Given the description of an element on the screen output the (x, y) to click on. 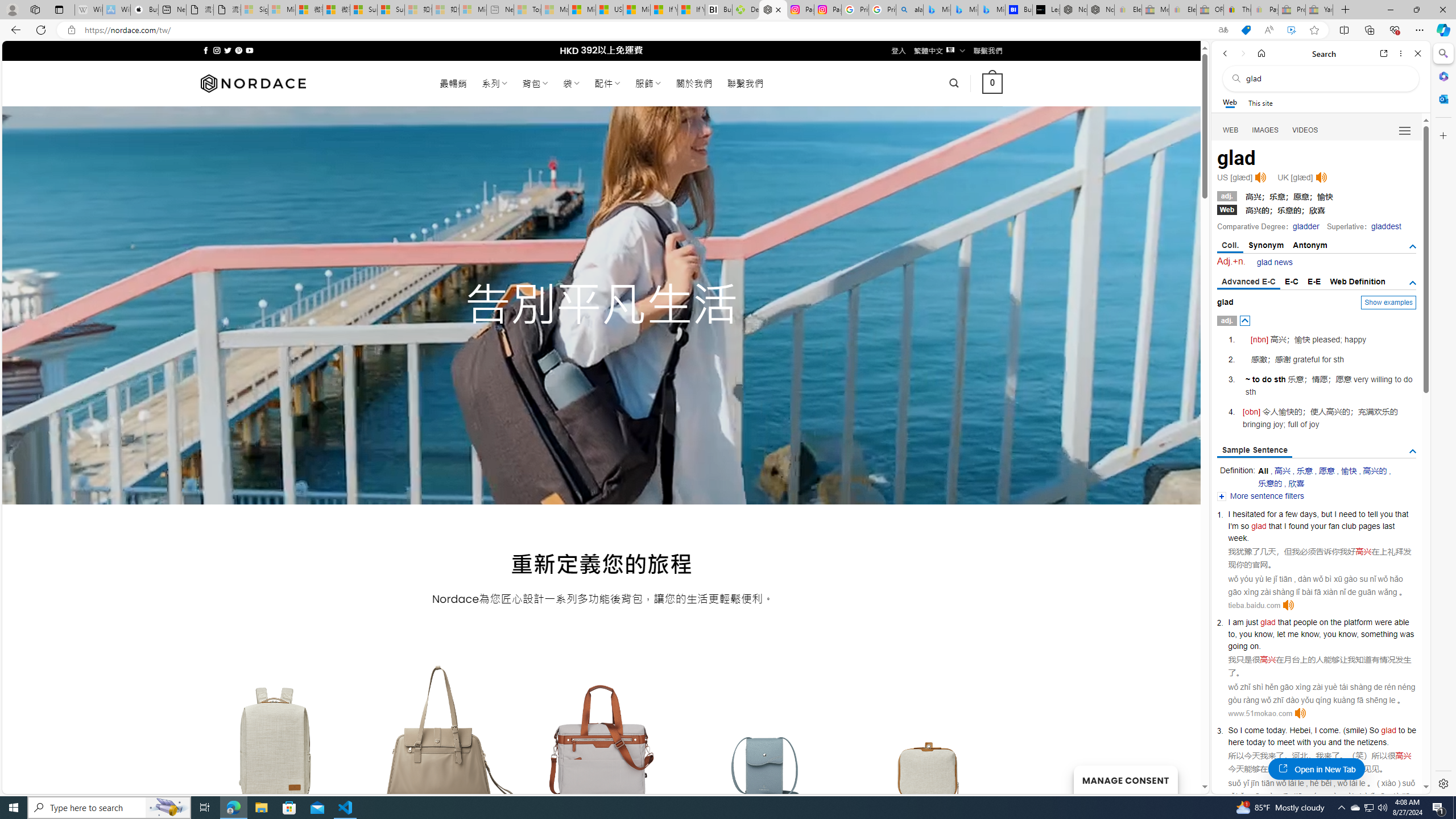
tieba.baidu.com (1254, 605)
Read aloud this page (Ctrl+Shift+U) (1268, 29)
but (1326, 513)
week (1237, 537)
Search Filter, WEB (1231, 129)
hesitated (1248, 513)
Search Filter, IMAGES (1265, 129)
Wikipedia - Sleeping (88, 9)
found (1298, 525)
Press Room - eBay Inc. - Sleeping (1292, 9)
